Given the description of an element on the screen output the (x, y) to click on. 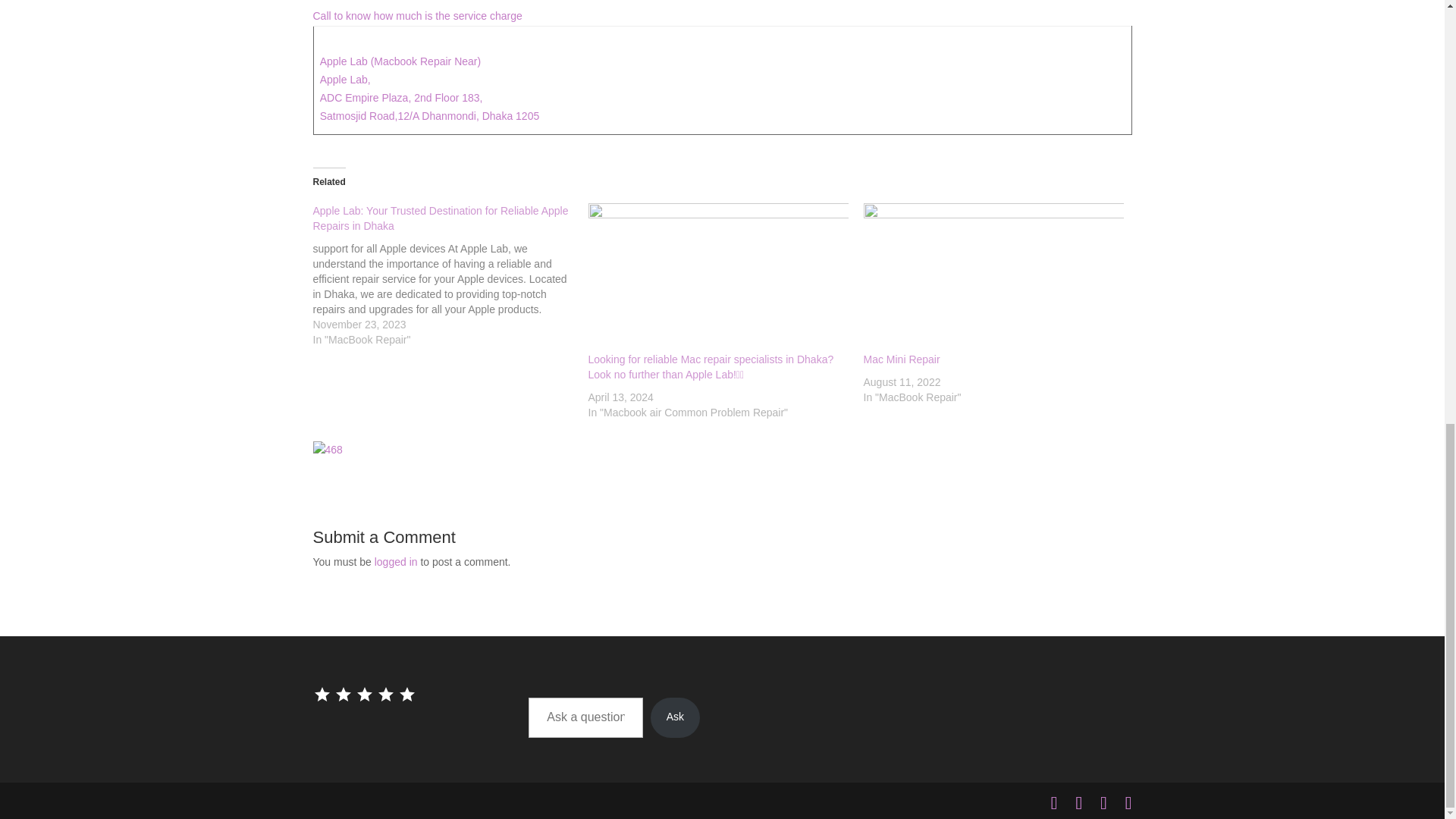
Mac Mini Repair (992, 277)
Mac Mini Repair (901, 358)
